Given the description of an element on the screen output the (x, y) to click on. 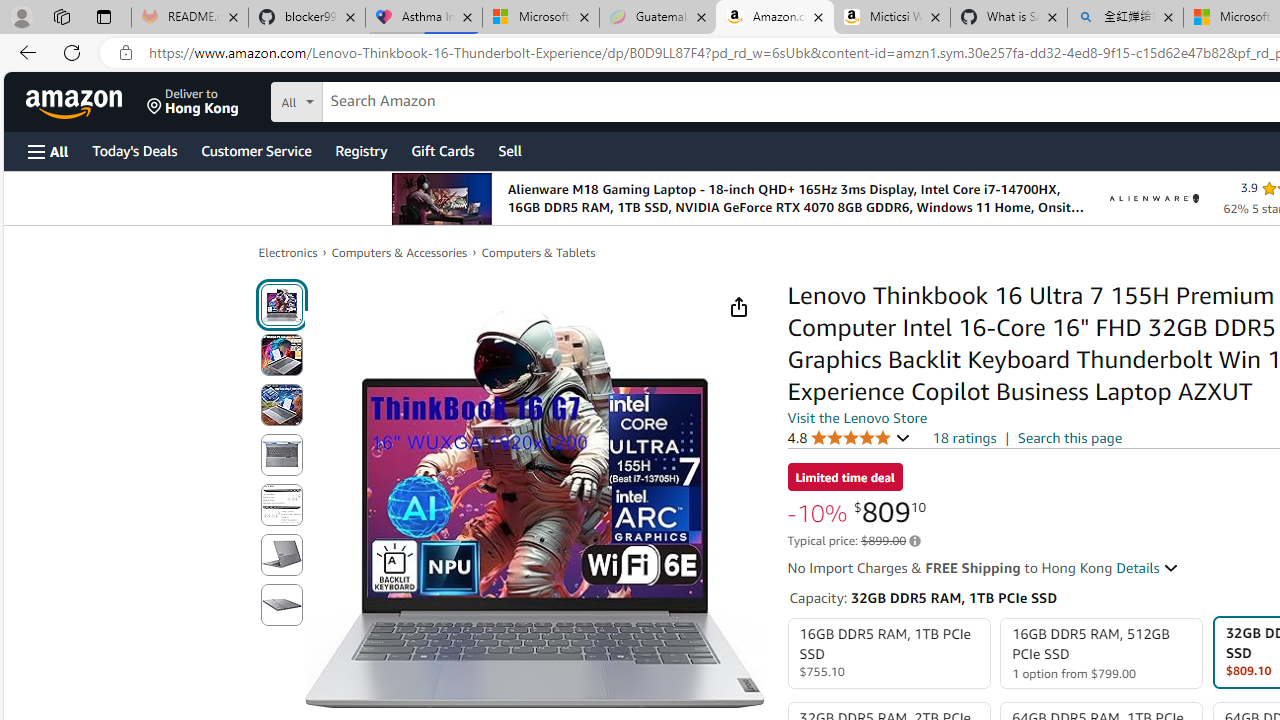
Electronics (287, 251)
Computers & Tablets (538, 252)
16GB DDR5 RAM, 1TB PCIe SSD $755.10 (888, 653)
Search this page (1069, 437)
Registry (360, 150)
Logo (1153, 198)
Deliver to Hong Kong (193, 101)
